Given the description of an element on the screen output the (x, y) to click on. 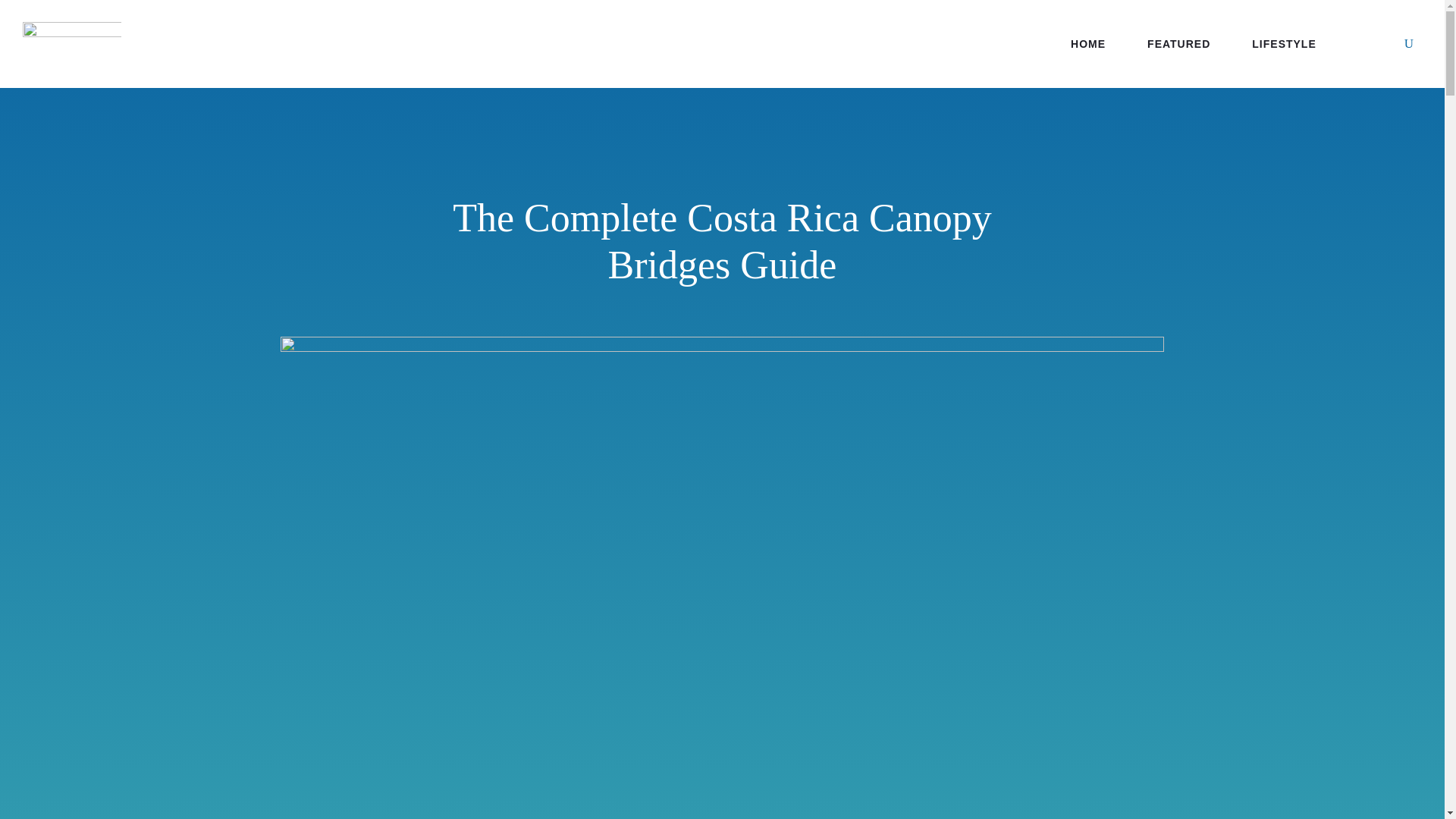
LIFESTYLE (1284, 43)
the-complete-costa-rica-canopy-bridges-guide-1 (722, 347)
FEATURED (1178, 43)
